Given the description of an element on the screen output the (x, y) to click on. 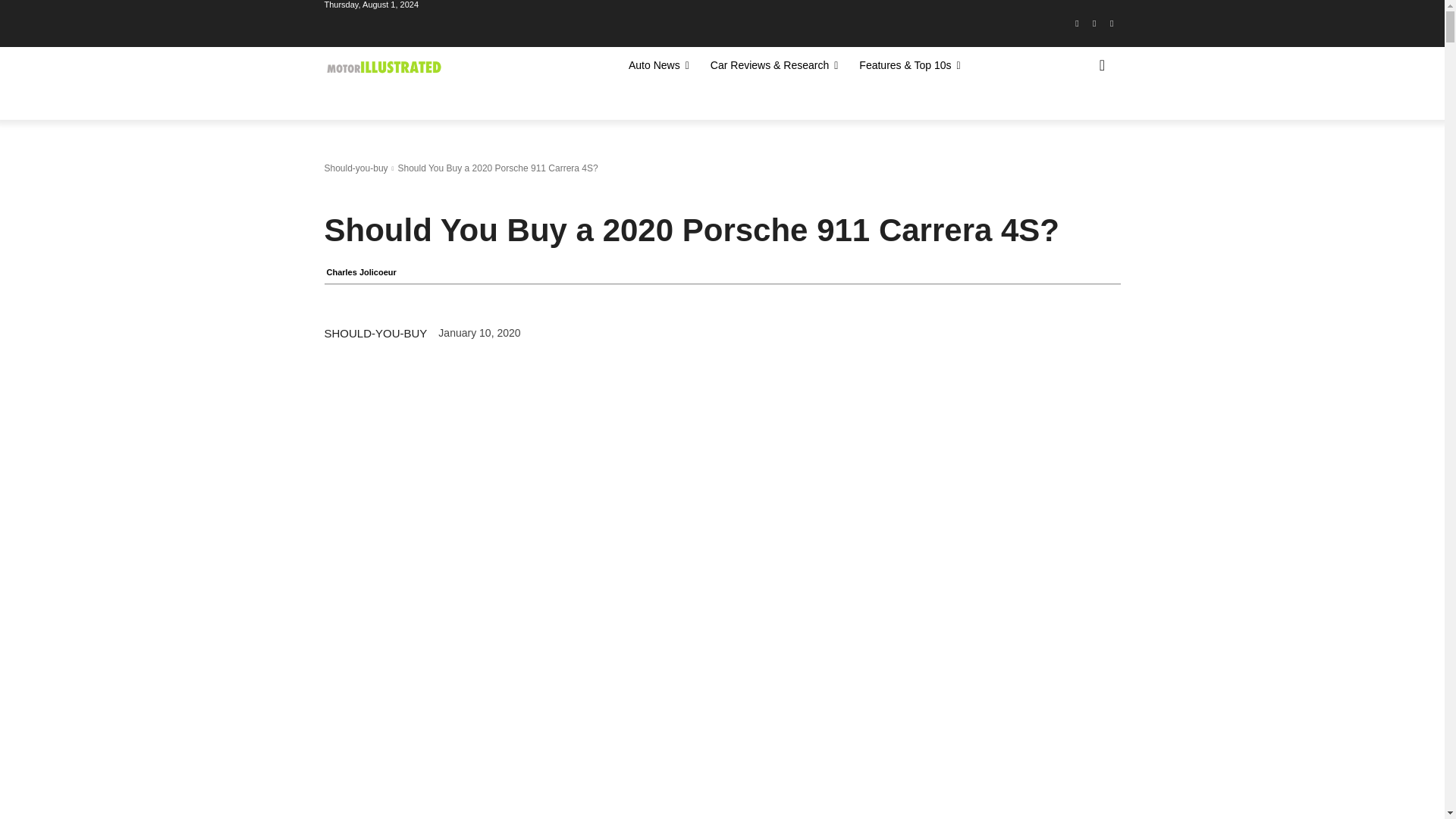
Facebook (1077, 23)
Youtube (1112, 23)
Auto News (658, 64)
Instagram (1094, 23)
View all posts in Should-you-buy (356, 167)
